Given the description of an element on the screen output the (x, y) to click on. 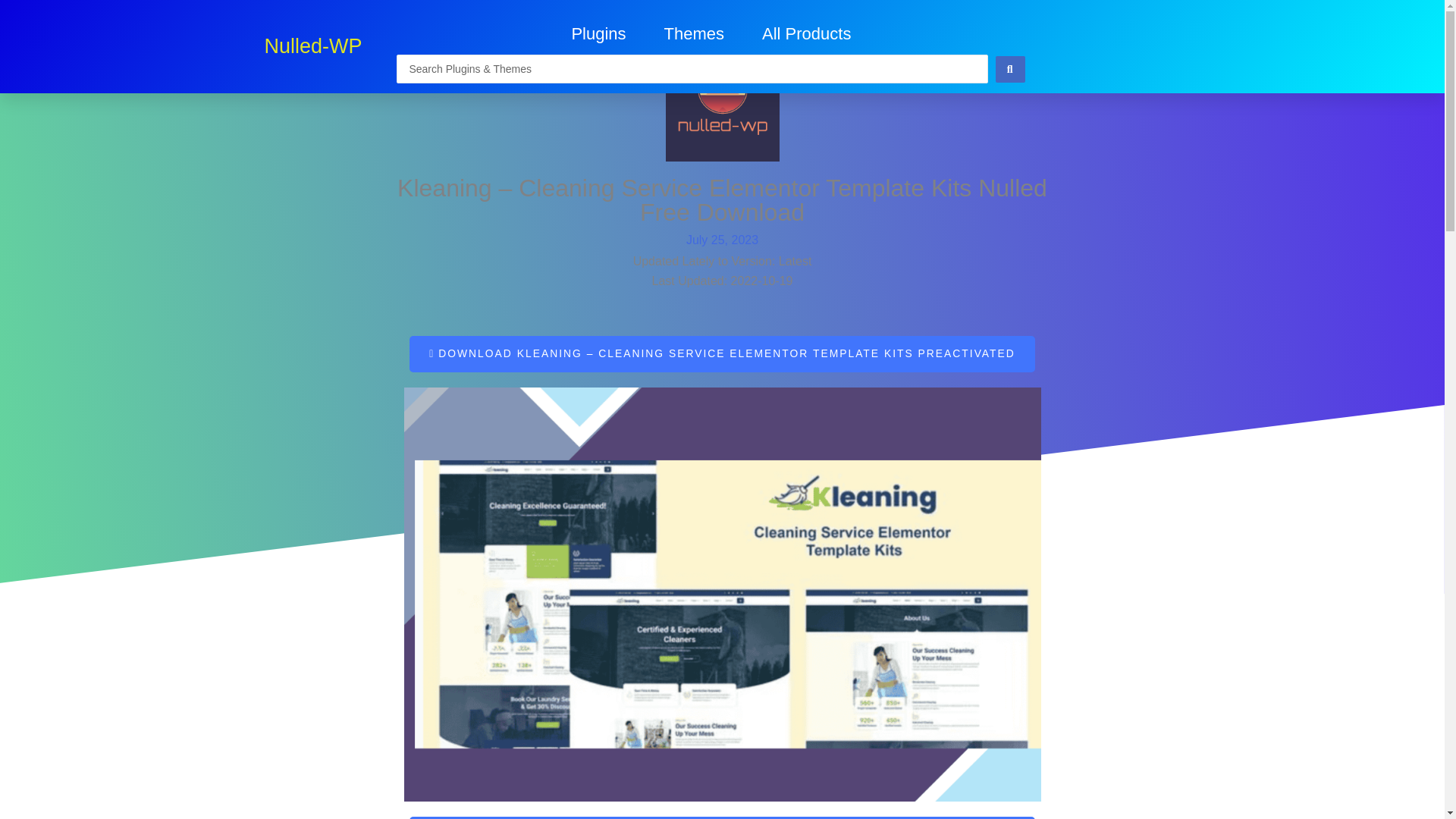
Nulled-WP (312, 46)
All Products (805, 33)
Plugins (598, 33)
Themes (693, 33)
July 25, 2023 (721, 240)
